Given the description of an element on the screen output the (x, y) to click on. 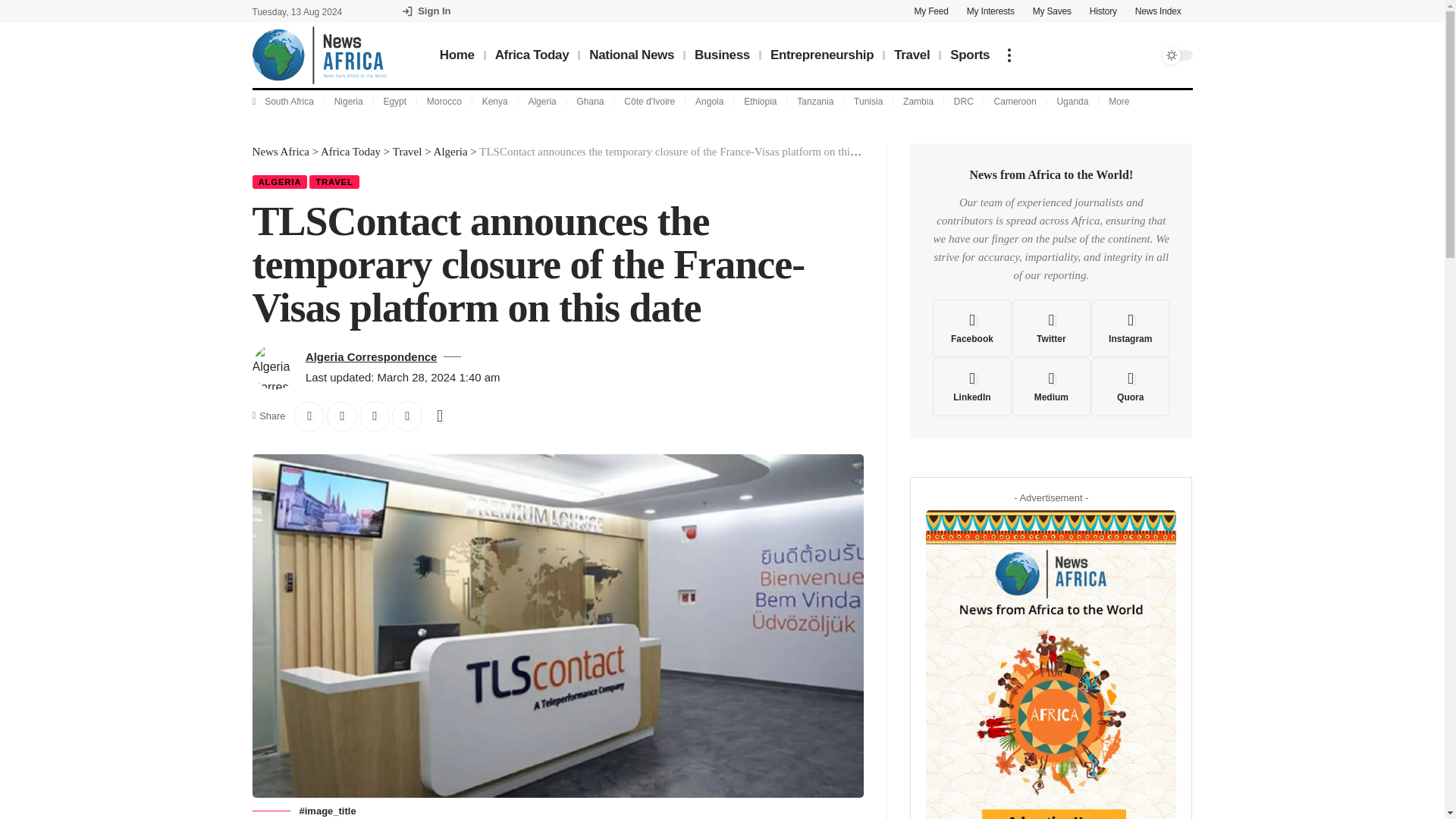
Entrepreneurship (821, 54)
Sign In (426, 11)
Go to the Travel Category archives. (407, 151)
My Interests (990, 11)
Travel (912, 54)
News Index (1157, 11)
National News (630, 54)
Go to the Algeria Category archives. (450, 151)
Morocco (443, 101)
Nigeria (348, 101)
